Given the description of an element on the screen output the (x, y) to click on. 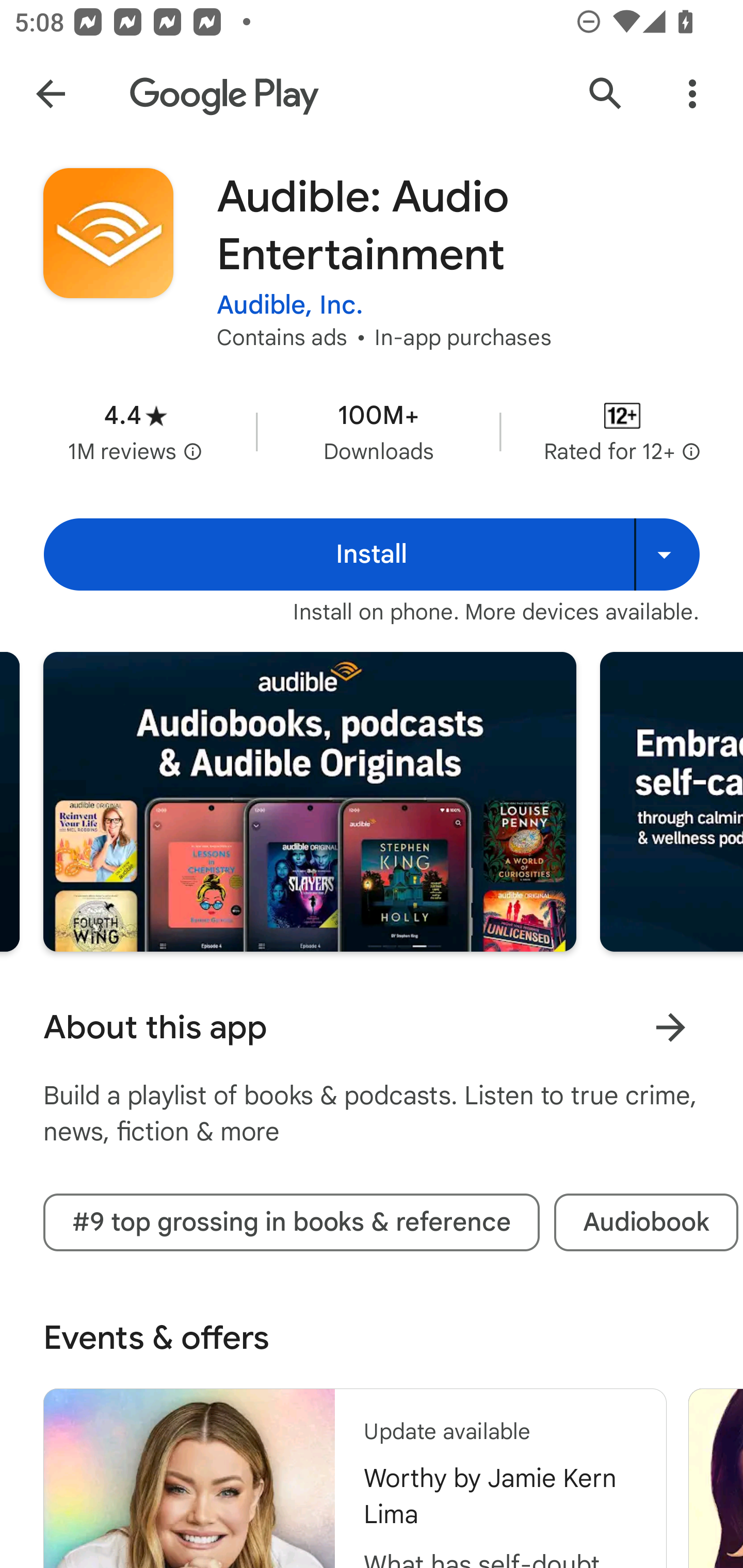
Navigate up (50, 93)
Search Google Play (605, 93)
More Options (692, 93)
Audible, Inc. (290, 304)
Average rating 4.4 stars in 1 million reviews (135, 431)
Content rating Rated for 12+ (622, 431)
Install Install Install on more devices (371, 554)
Install on more devices (667, 554)
Screenshot "1" of "8" (309, 801)
About this app Learn more About this app (371, 1027)
Learn more About this app (670, 1027)
#9 top grossing in books & reference tag (291, 1222)
Audiobook tag (646, 1222)
